Given the description of an element on the screen output the (x, y) to click on. 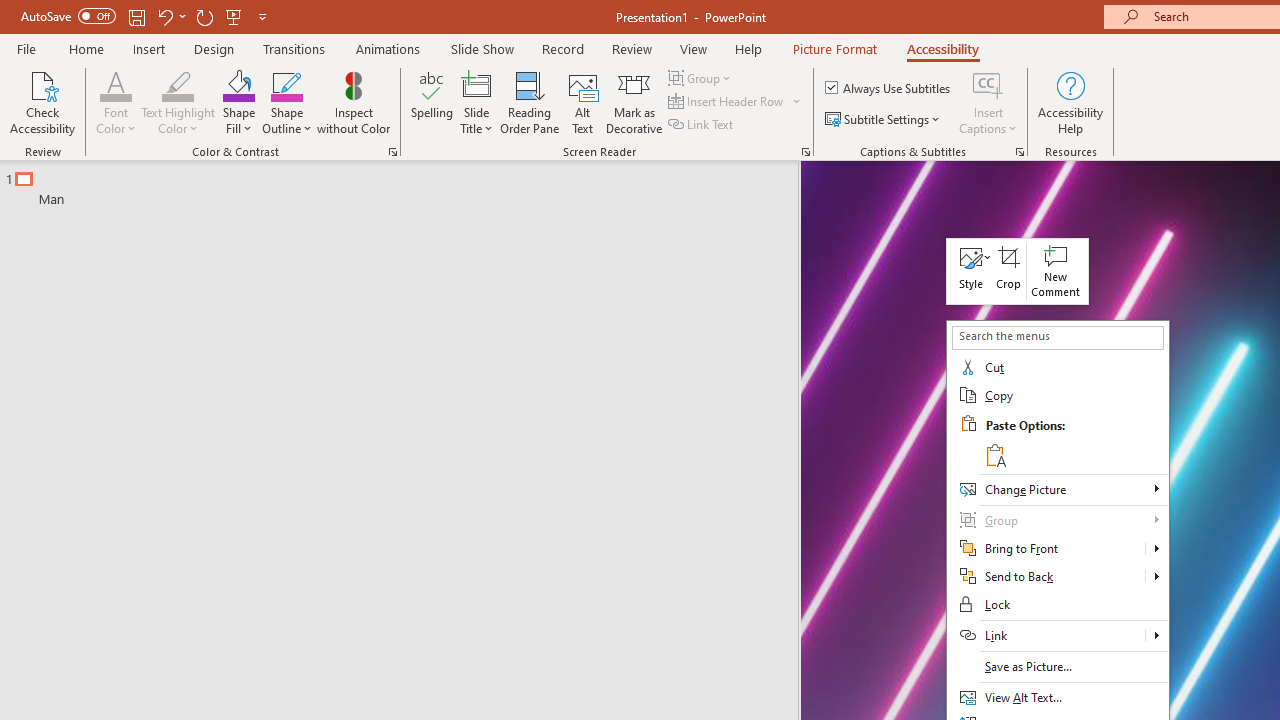
Change Picture (1057, 489)
Color & Contrast (392, 151)
Captions & Subtitles (1019, 151)
Link Text (702, 124)
Paste Options (1073, 440)
Crop (1009, 270)
